Given the description of an element on the screen output the (x, y) to click on. 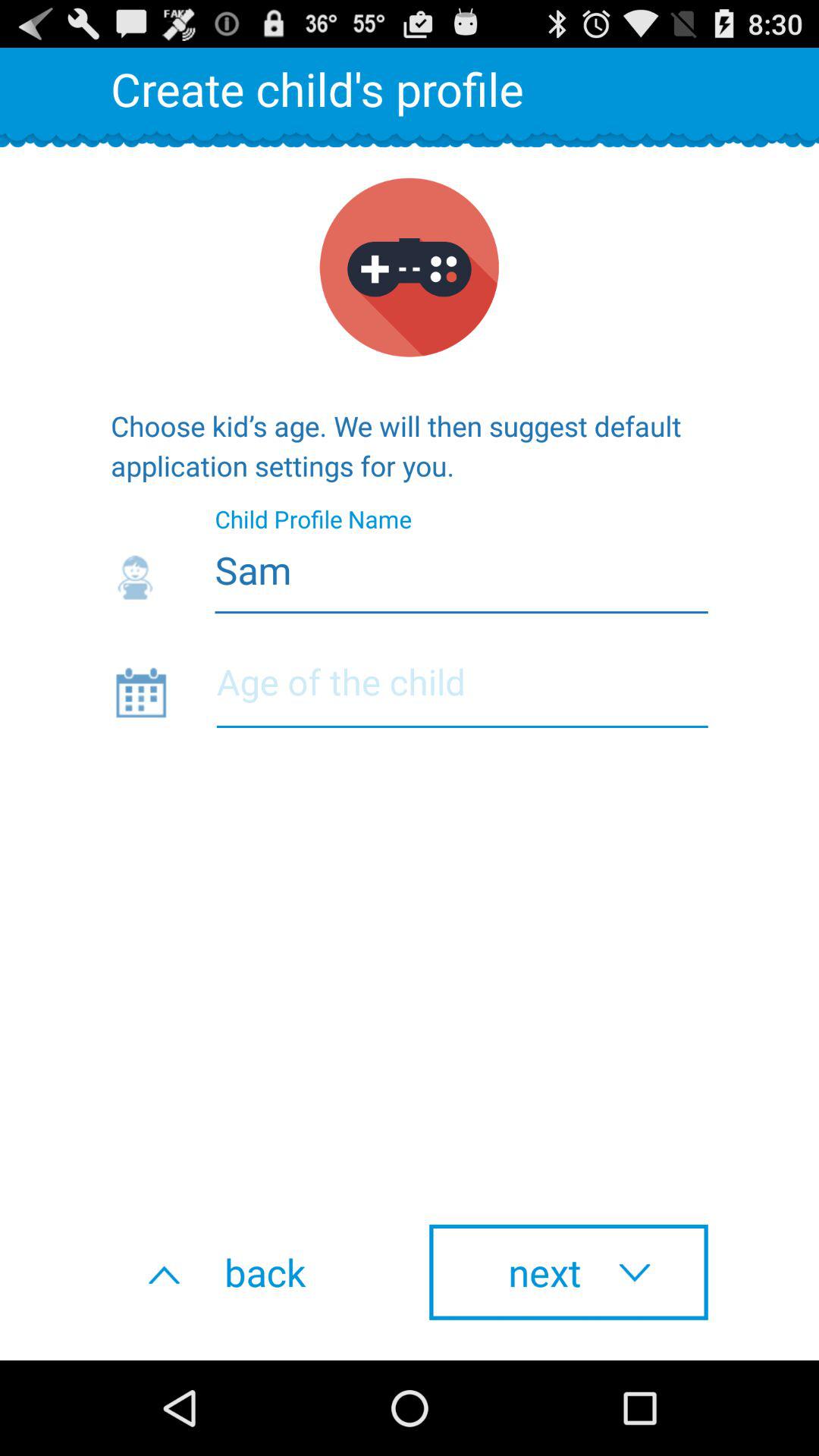
indicate age (462, 691)
